Given the description of an element on the screen output the (x, y) to click on. 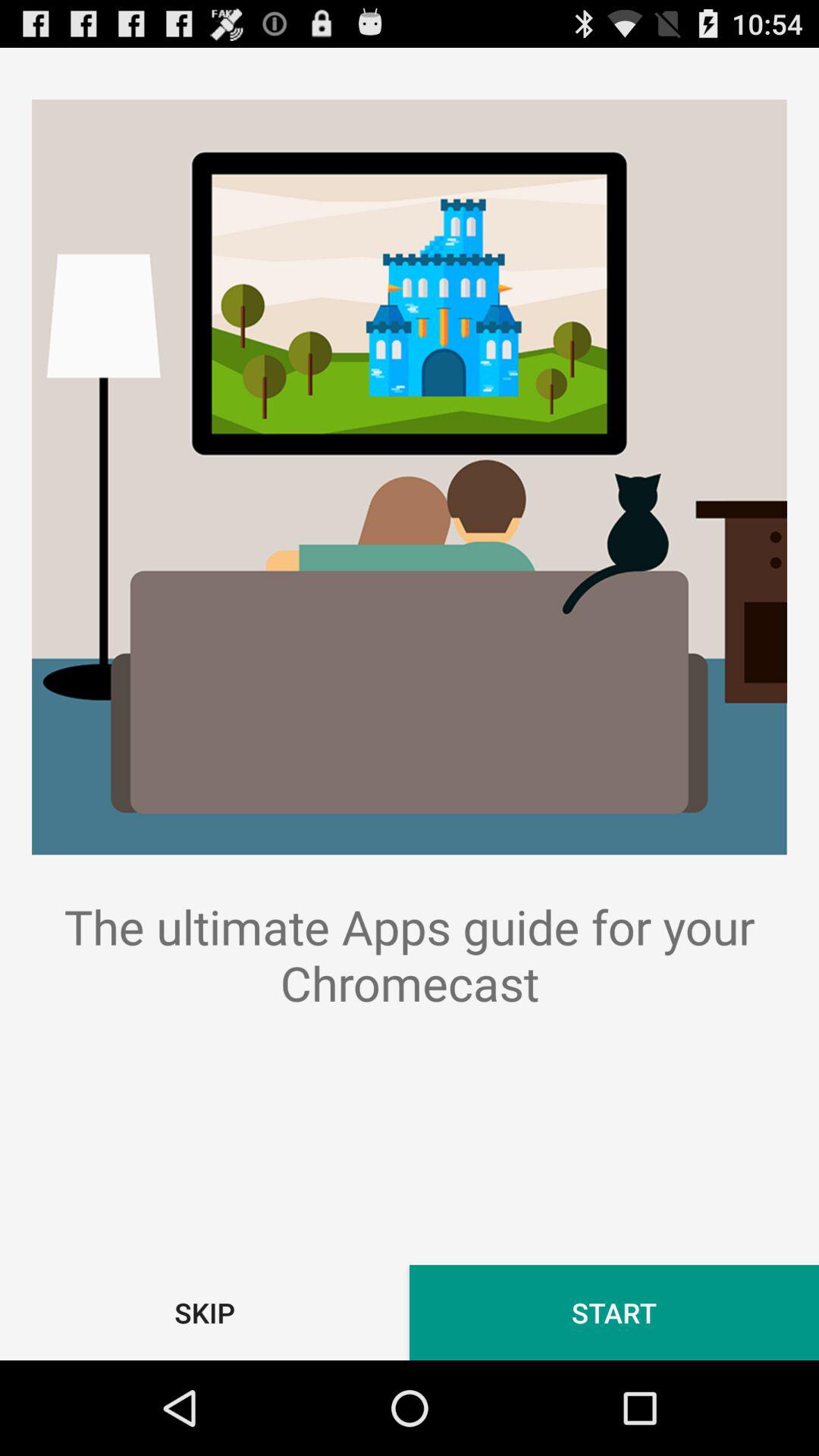
turn off item at the bottom right corner (614, 1312)
